Given the description of an element on the screen output the (x, y) to click on. 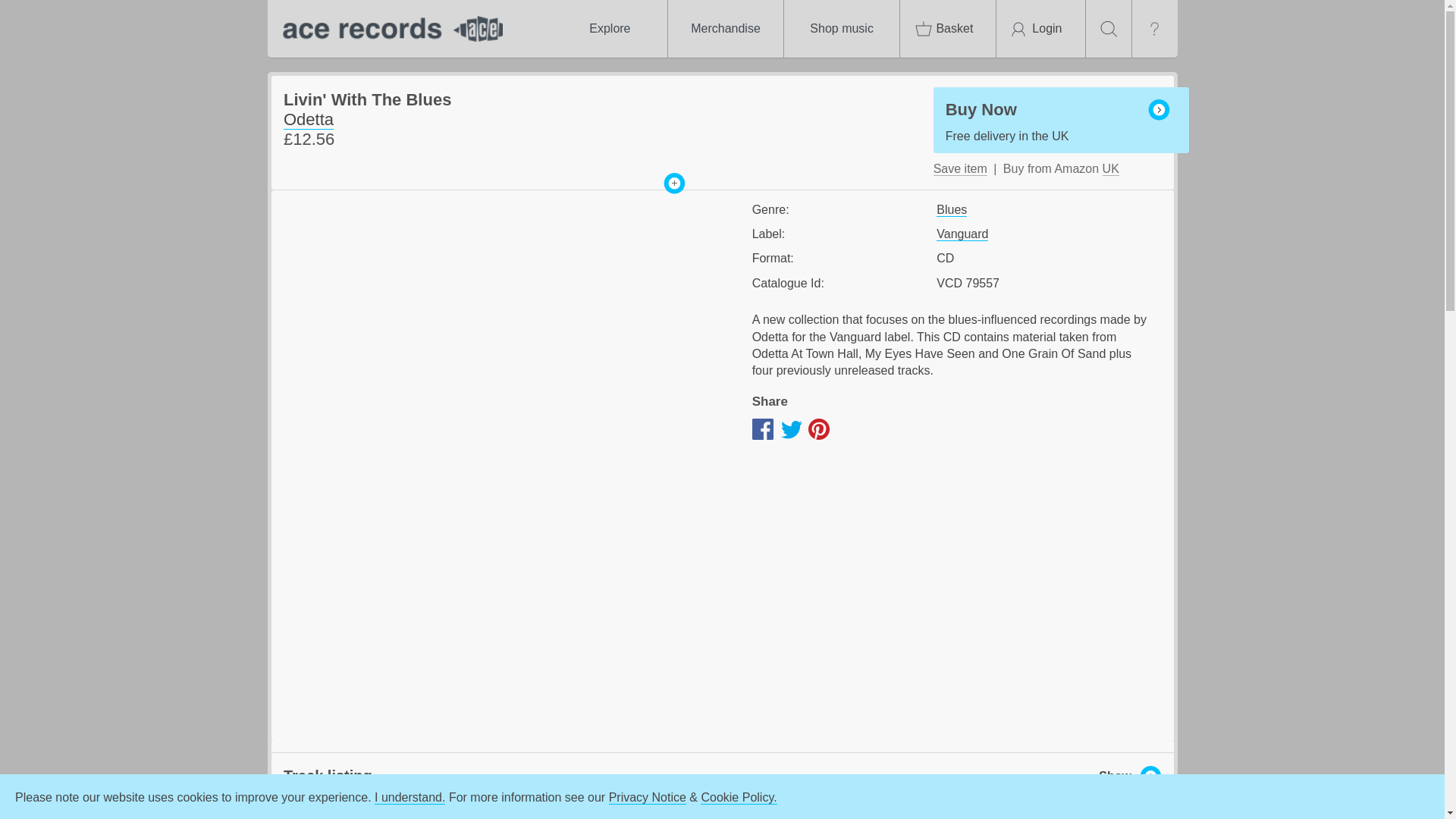
Vanguard (962, 233)
UK (1110, 169)
Odetta (308, 119)
Save item (960, 169)
Blues (951, 210)
Login (1039, 28)
Merchandise (725, 28)
Explore (609, 28)
Basket (947, 28)
Shop music (841, 28)
Ace Records (1061, 119)
